Given the description of an element on the screen output the (x, y) to click on. 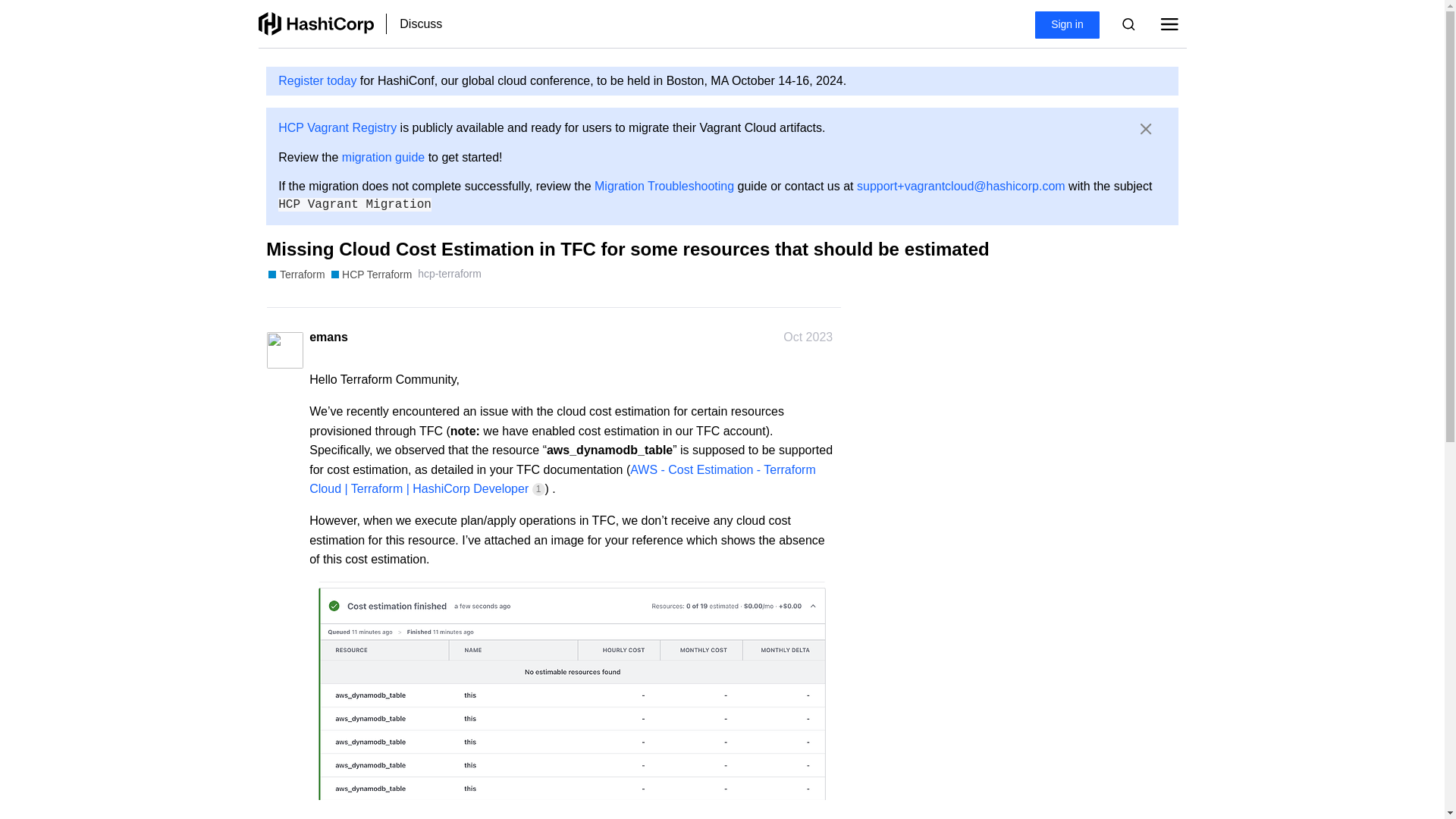
Sign in (1067, 25)
HCP Terraform (371, 274)
Migration Troubleshooting (663, 185)
emans (327, 337)
Discuss (421, 23)
Oct 2023 (807, 336)
Search (1128, 23)
migration guide (383, 156)
HCP Vagrant Registry (337, 127)
